Given the description of an element on the screen output the (x, y) to click on. 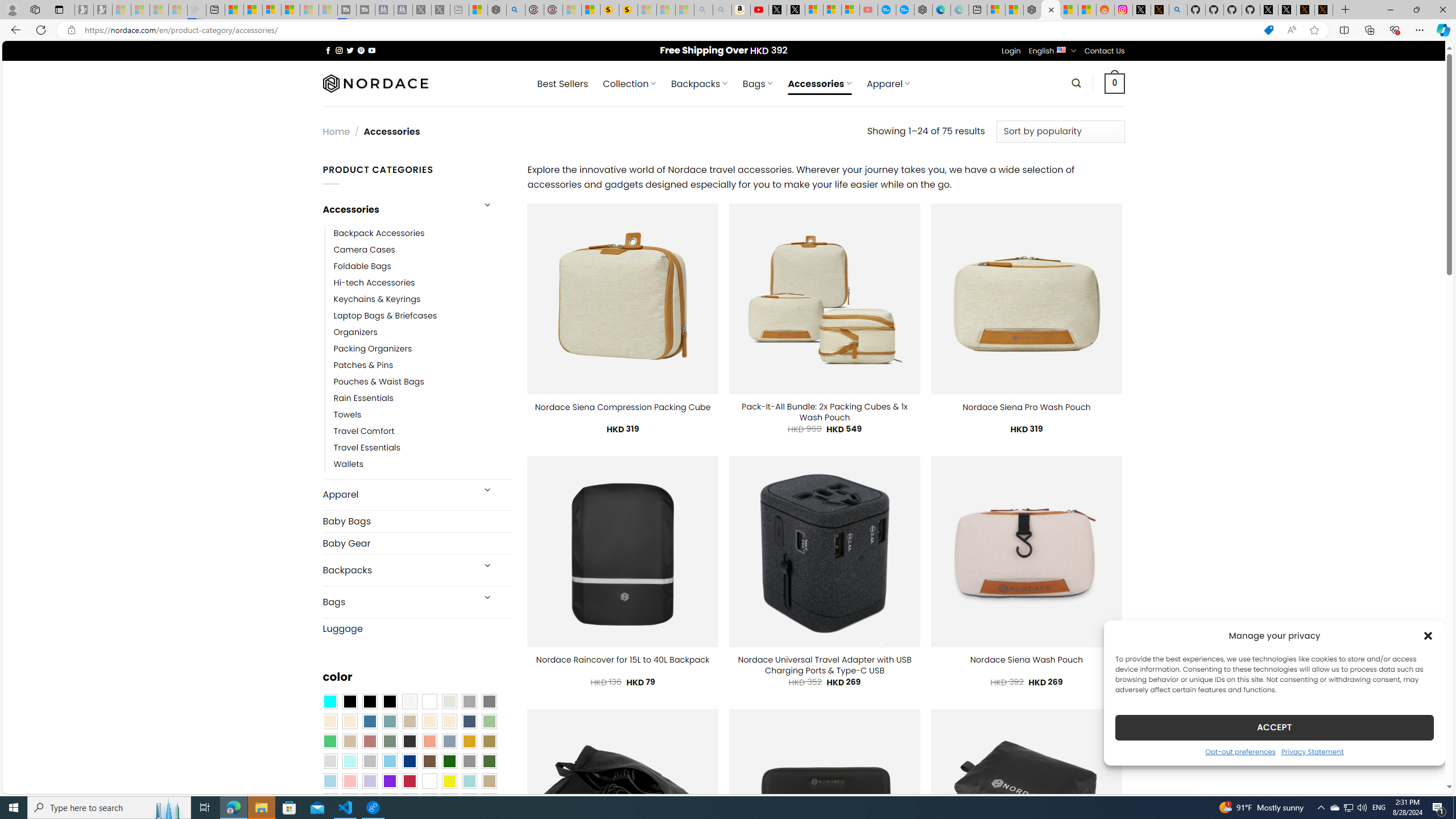
github - Search (1178, 9)
Travel Comfort (422, 431)
Navy Blue (408, 761)
Nordace - Nordace has arrived Hong Kong (923, 9)
Laptop Bags & Briefcases (422, 316)
GitHub (@github) / X (1287, 9)
Light Blue (329, 780)
Baby Bags (416, 521)
